Given the description of an element on the screen output the (x, y) to click on. 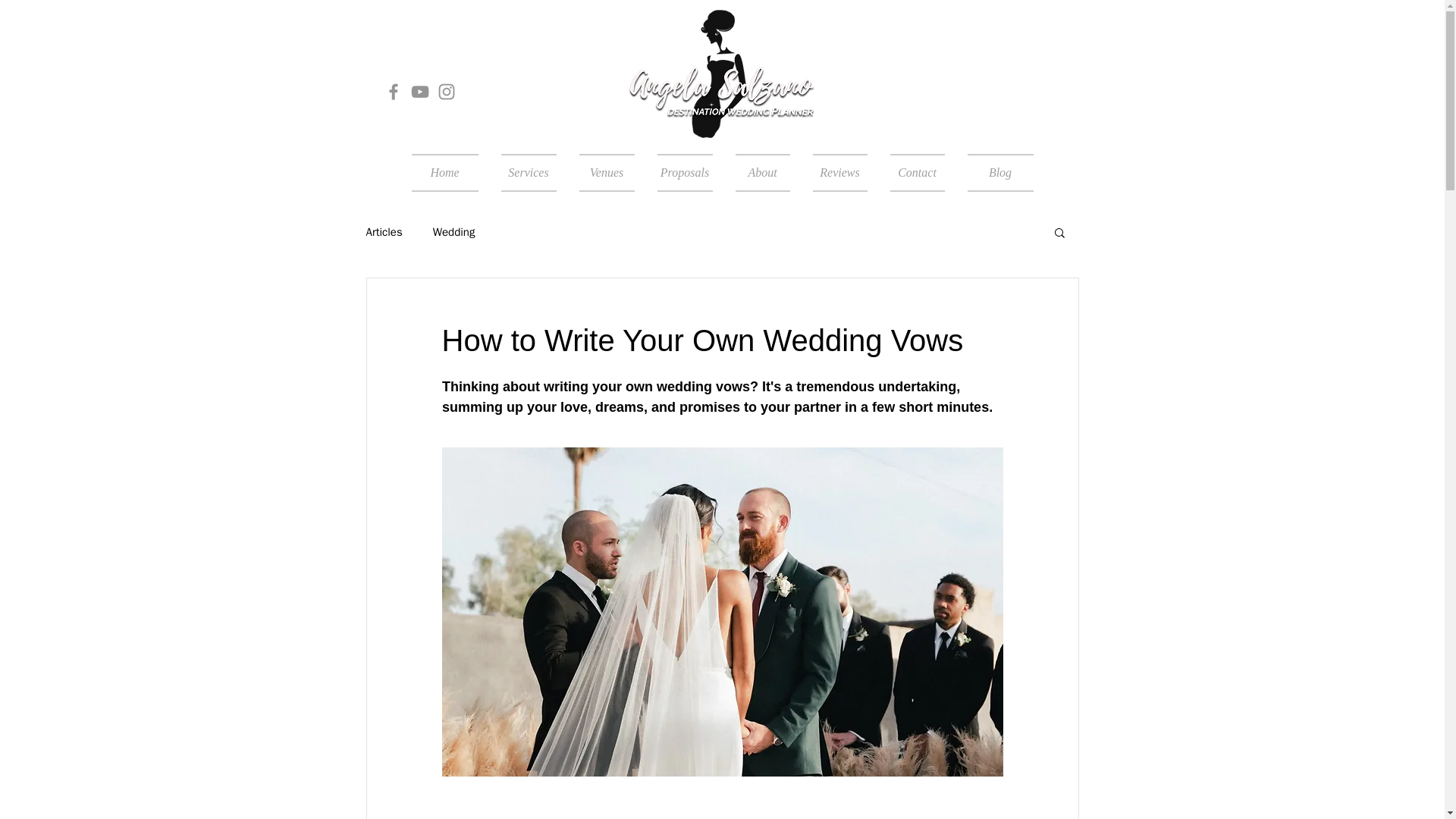
About (761, 172)
Articles (383, 231)
Services (528, 172)
Proposals (684, 172)
Reviews (838, 172)
Venues (606, 172)
Blog (993, 172)
Wedding (454, 231)
Home (449, 172)
Contact (916, 172)
